Given the description of an element on the screen output the (x, y) to click on. 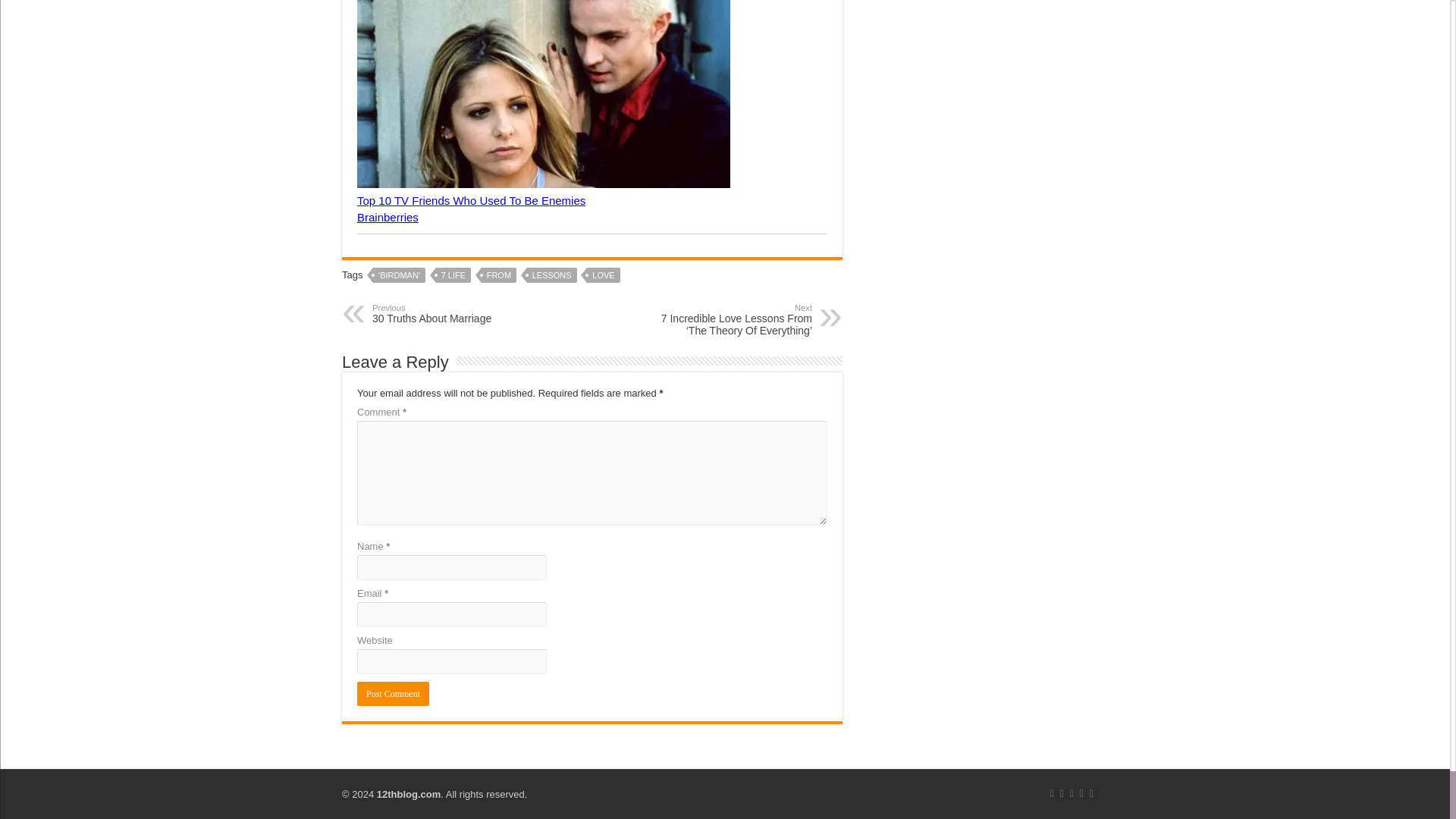
Post Comment (392, 693)
